Given the description of an element on the screen output the (x, y) to click on. 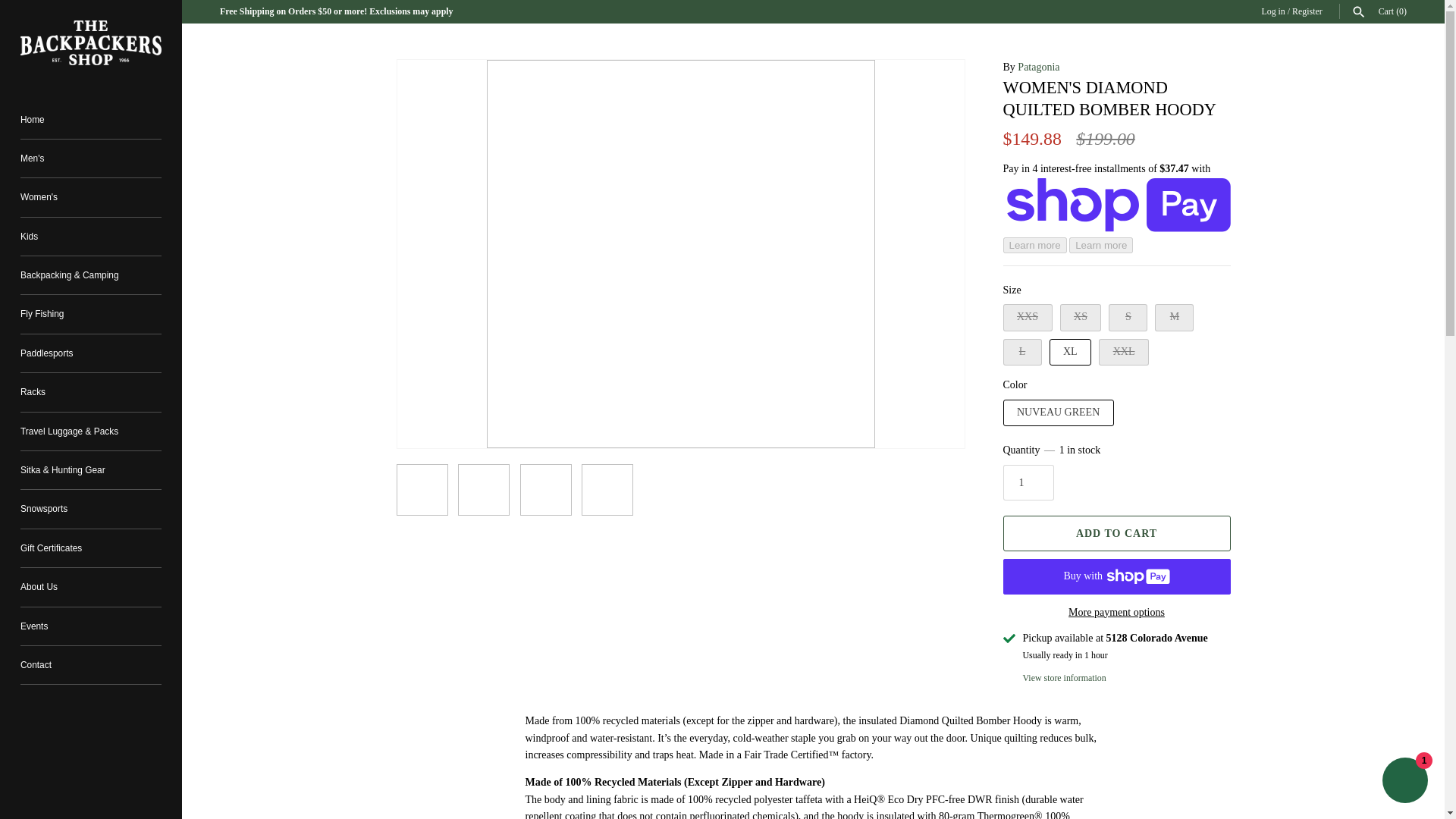
1 (1027, 481)
Register (1307, 10)
Men's (90, 158)
Home (90, 118)
The Backpackers Shop (91, 42)
Shopify online store chat (1404, 781)
Log in (1272, 10)
